Given the description of an element on the screen output the (x, y) to click on. 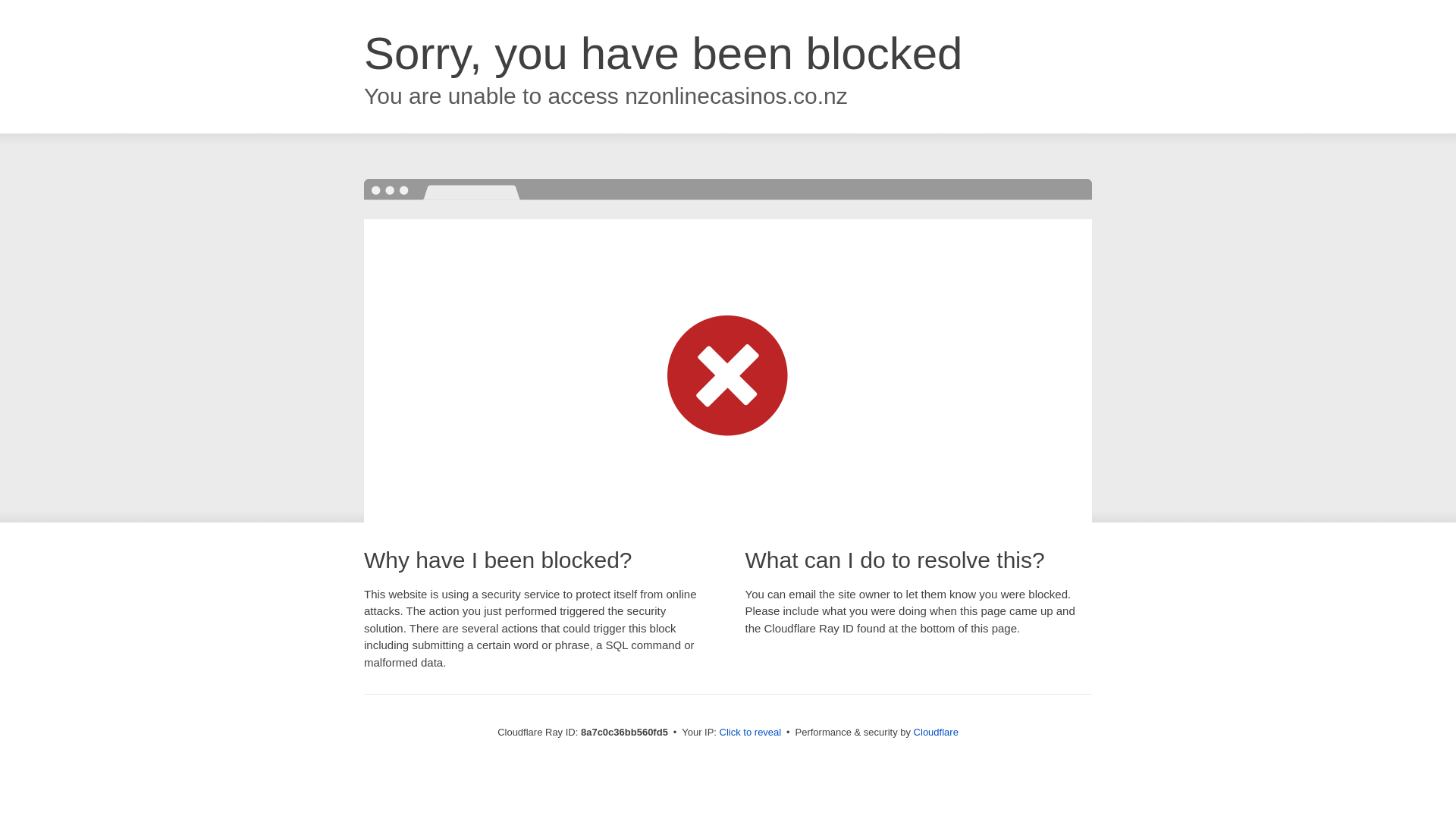
Click to reveal (750, 732)
Cloudflare (936, 731)
